Given the description of an element on the screen output the (x, y) to click on. 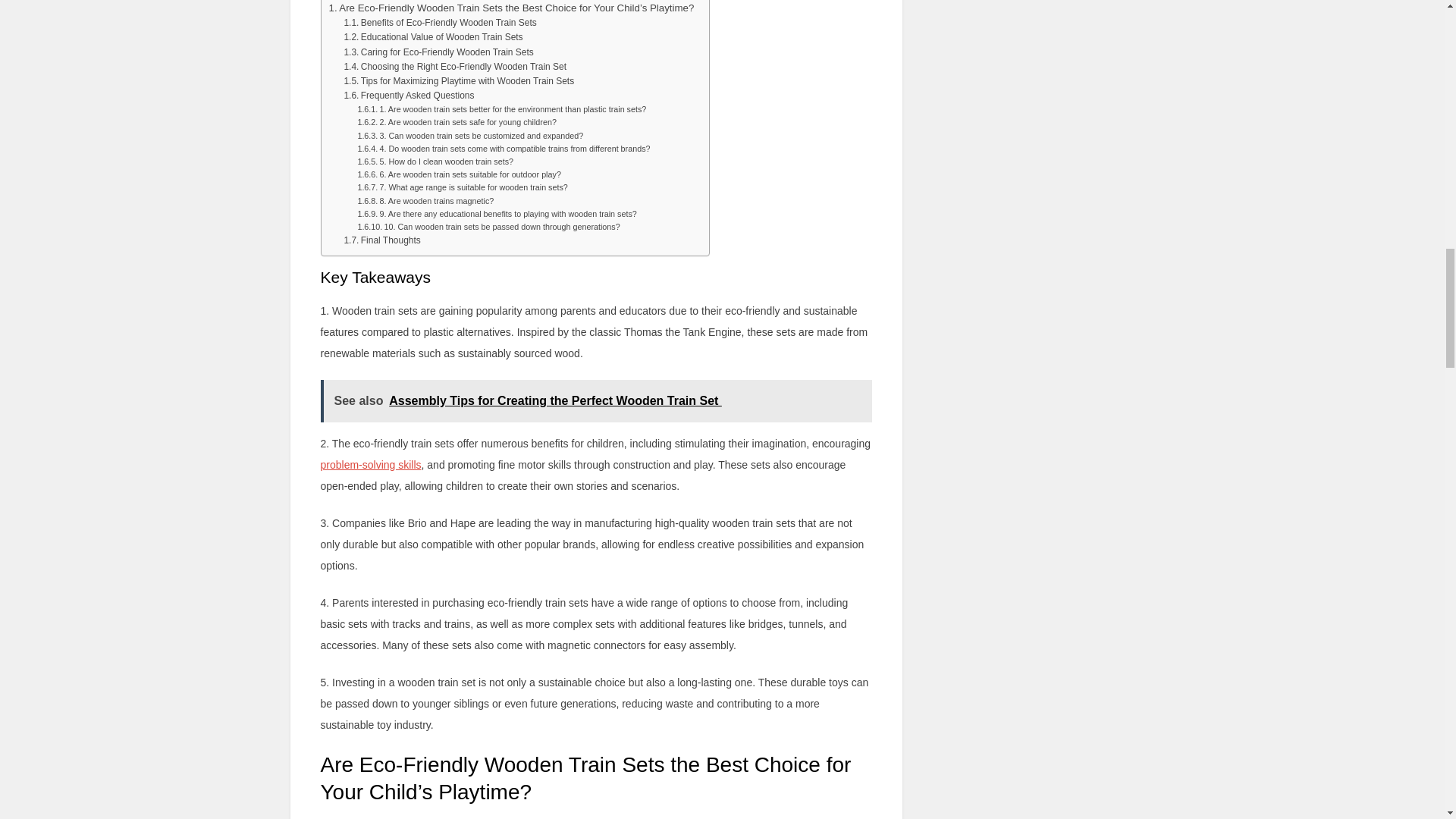
3. Can wooden train sets be customized and expanded? (469, 135)
Benefits of Eco-Friendly Wooden Train Sets (439, 22)
2. Are wooden train sets safe for young children? (456, 122)
Final Thoughts (381, 240)
Tips for Maximizing Playtime with Wooden Train Sets (458, 81)
8. Are wooden trains magnetic? (424, 201)
3. Can wooden train sets be customized and expanded? (469, 135)
Educational Value of Wooden Train Sets (432, 37)
Educational Value of Wooden Train Sets (432, 37)
Frequently Asked Questions (408, 95)
Caring for Eco-Friendly Wooden Train Sets (437, 52)
Benefits of Eco-Friendly Wooden Train Sets (439, 22)
